Given the description of an element on the screen output the (x, y) to click on. 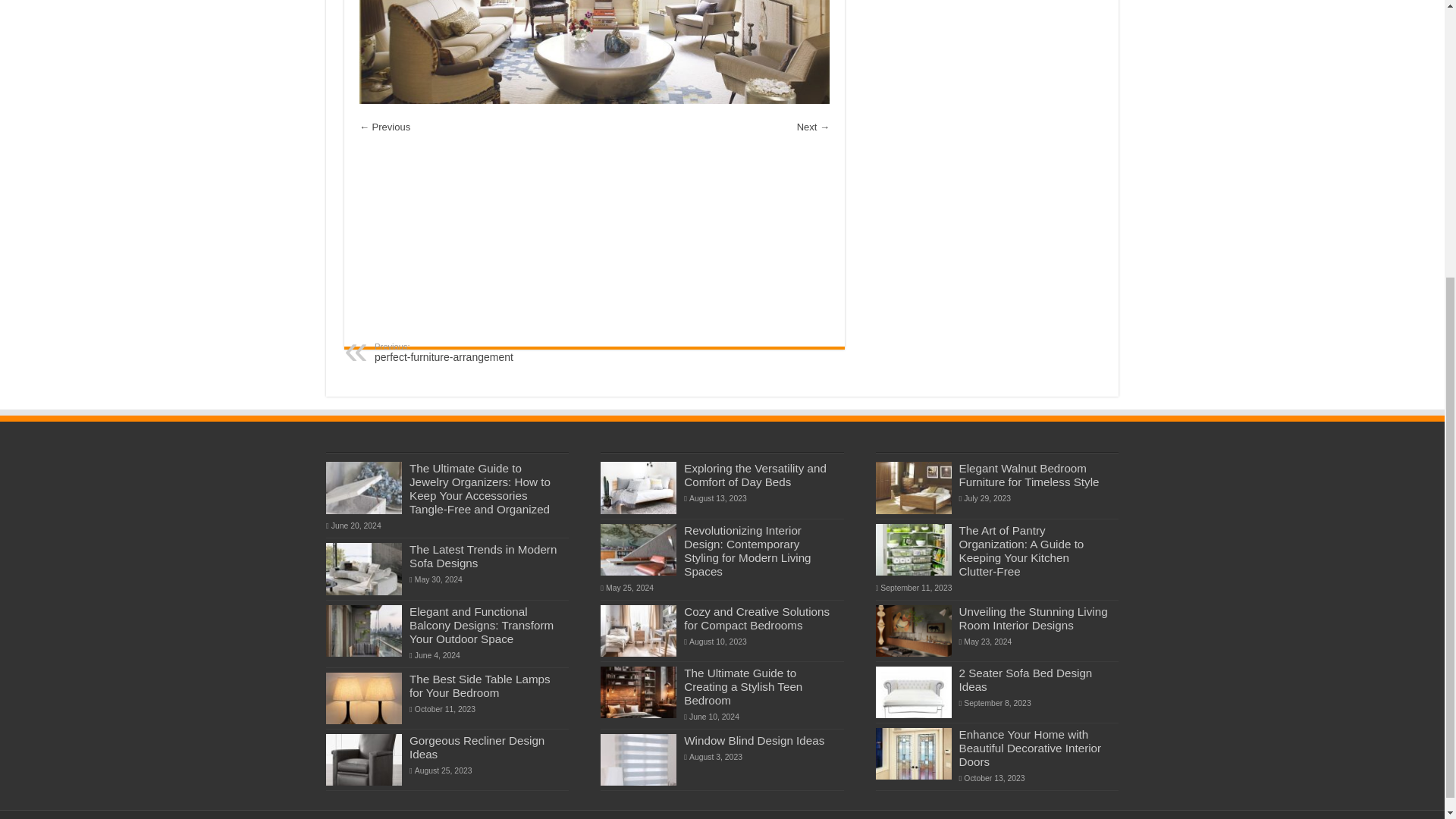
Advertisement (594, 241)
